Given the description of an element on the screen output the (x, y) to click on. 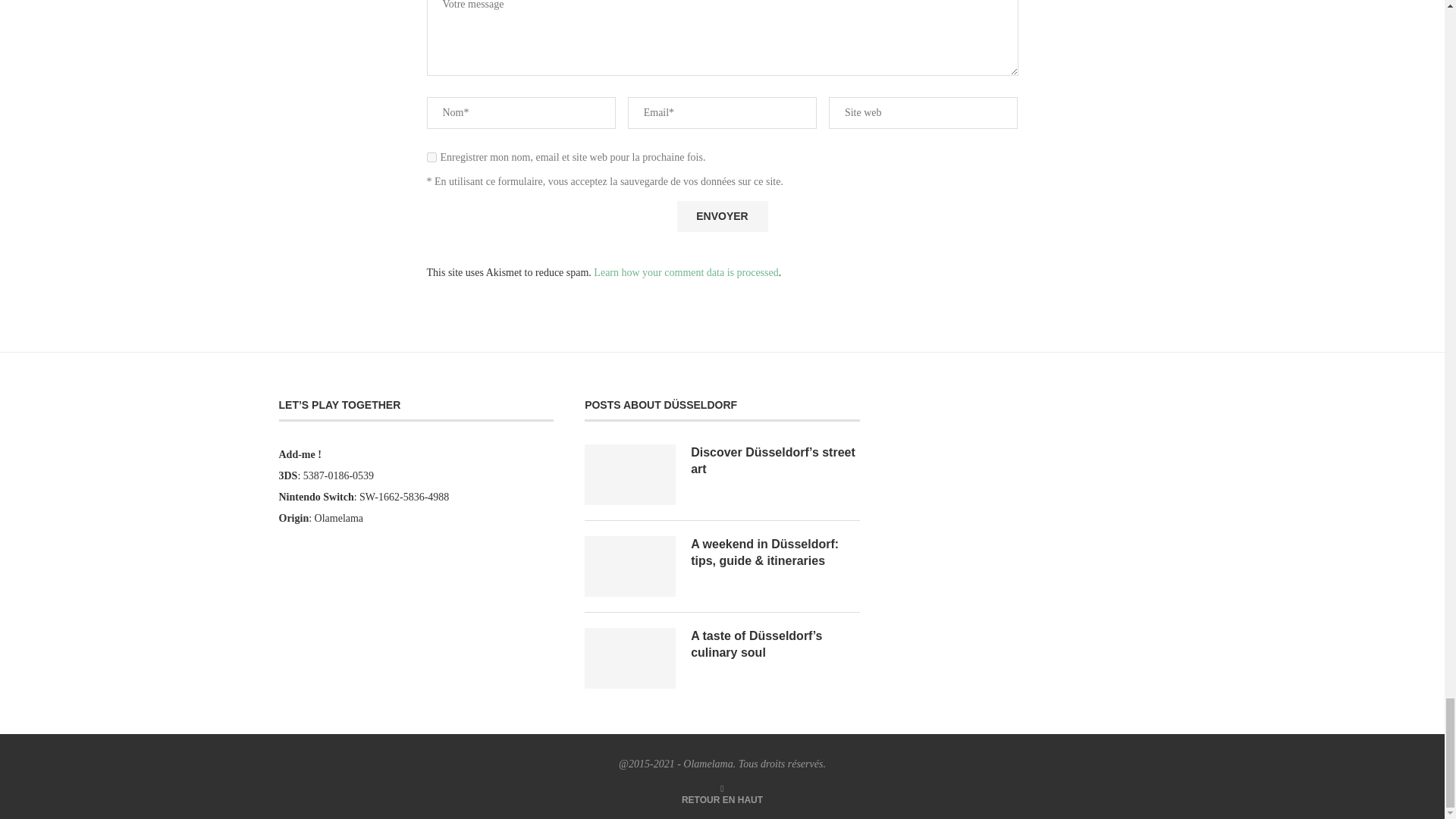
yes (430, 157)
Envoyer (722, 215)
